Given the description of an element on the screen output the (x, y) to click on. 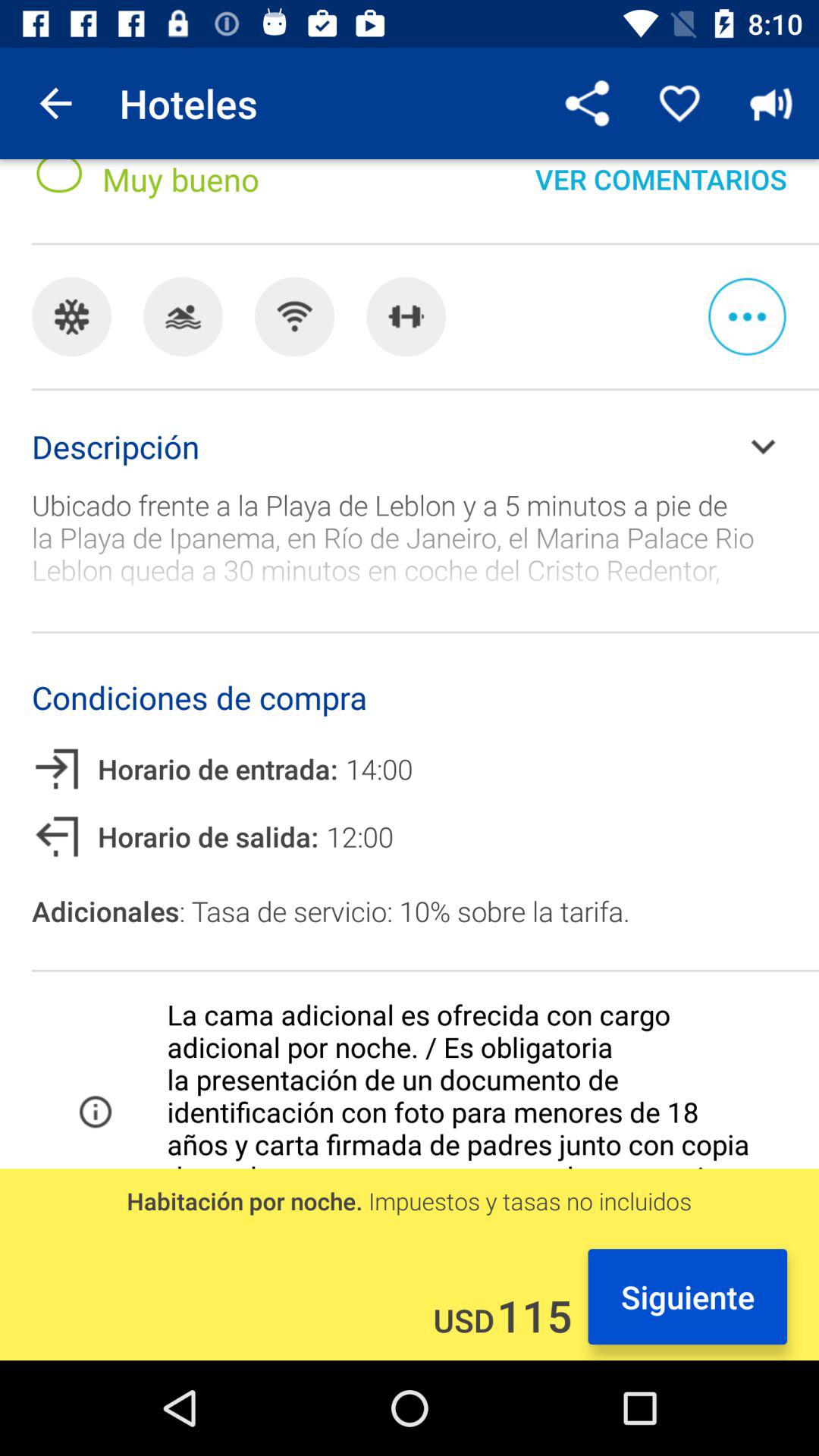
press the item to the left of hoteles item (55, 103)
